Given the description of an element on the screen output the (x, y) to click on. 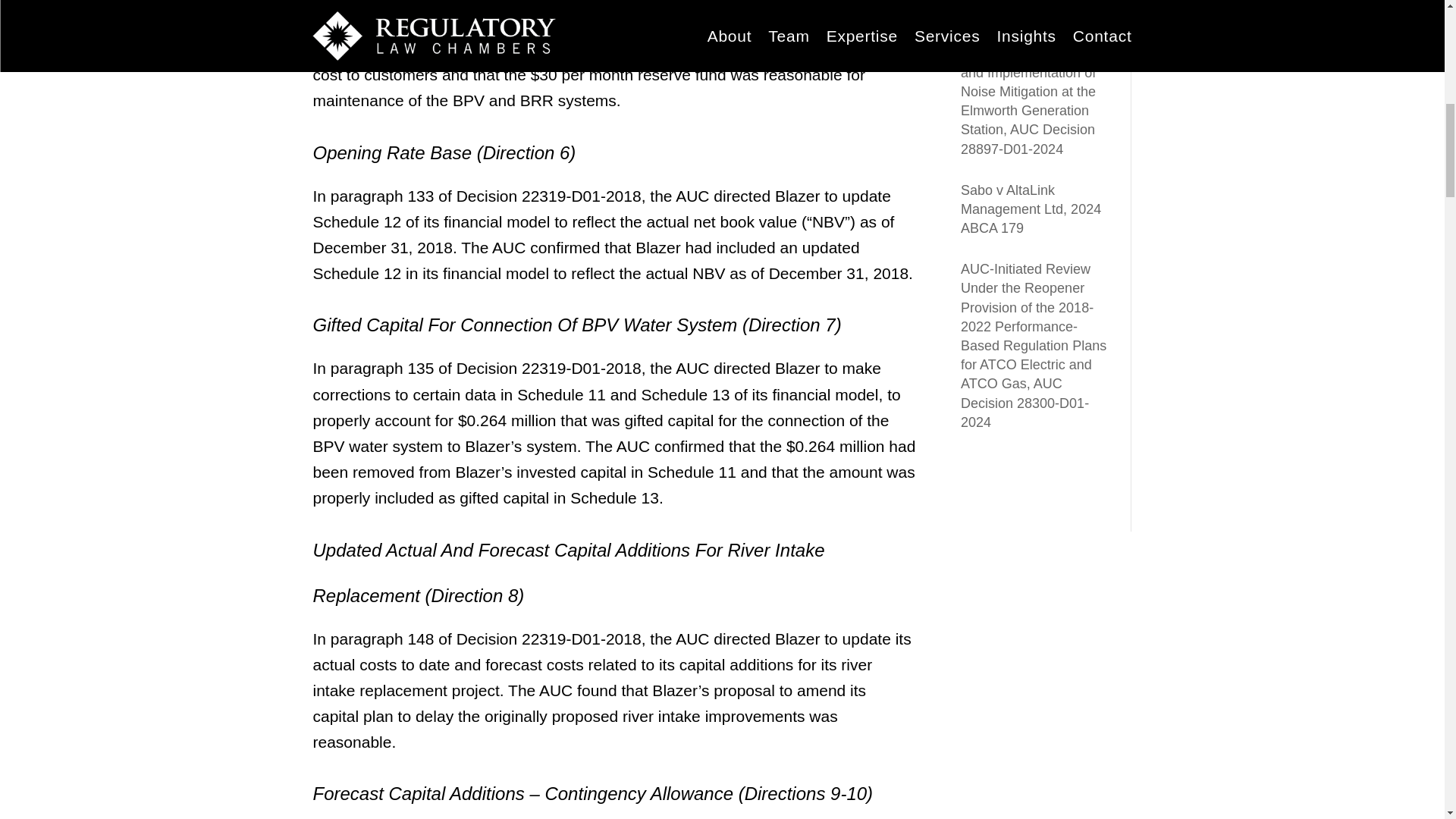
Sabo v AltaLink Management Ltd, 2024 ABCA 179 (1030, 208)
